Given the description of an element on the screen output the (x, y) to click on. 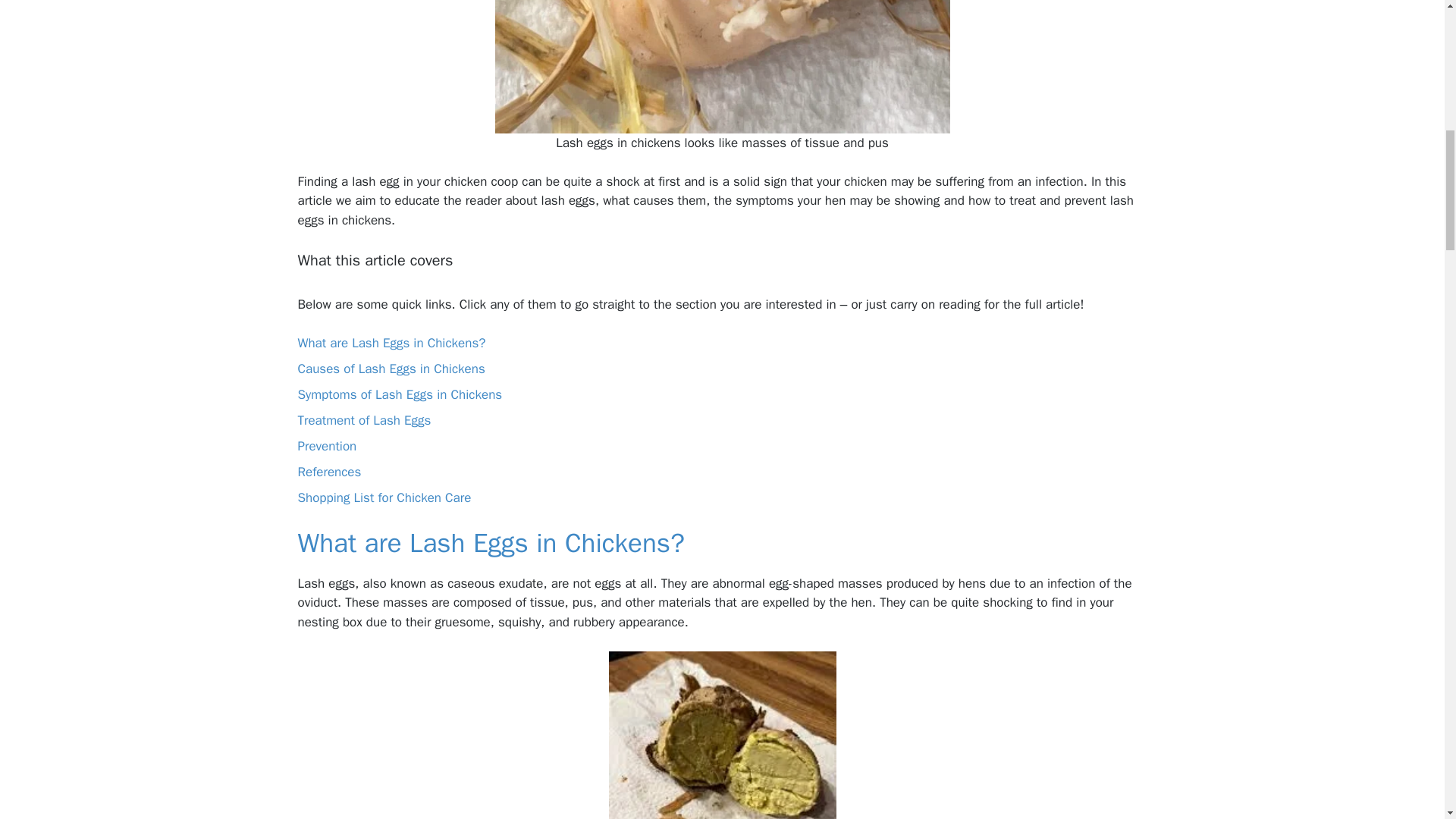
What are Lash Eggs in Chickens? (390, 342)
Prevention (326, 446)
References (329, 471)
lash-eggs-2 (721, 735)
Treatment of Lash Eggs (363, 420)
Symptoms of Lash Eggs in Chickens (399, 394)
Shopping List for Chicken Care (383, 497)
Causes of Lash Eggs in Chickens (390, 368)
